Given the description of an element on the screen output the (x, y) to click on. 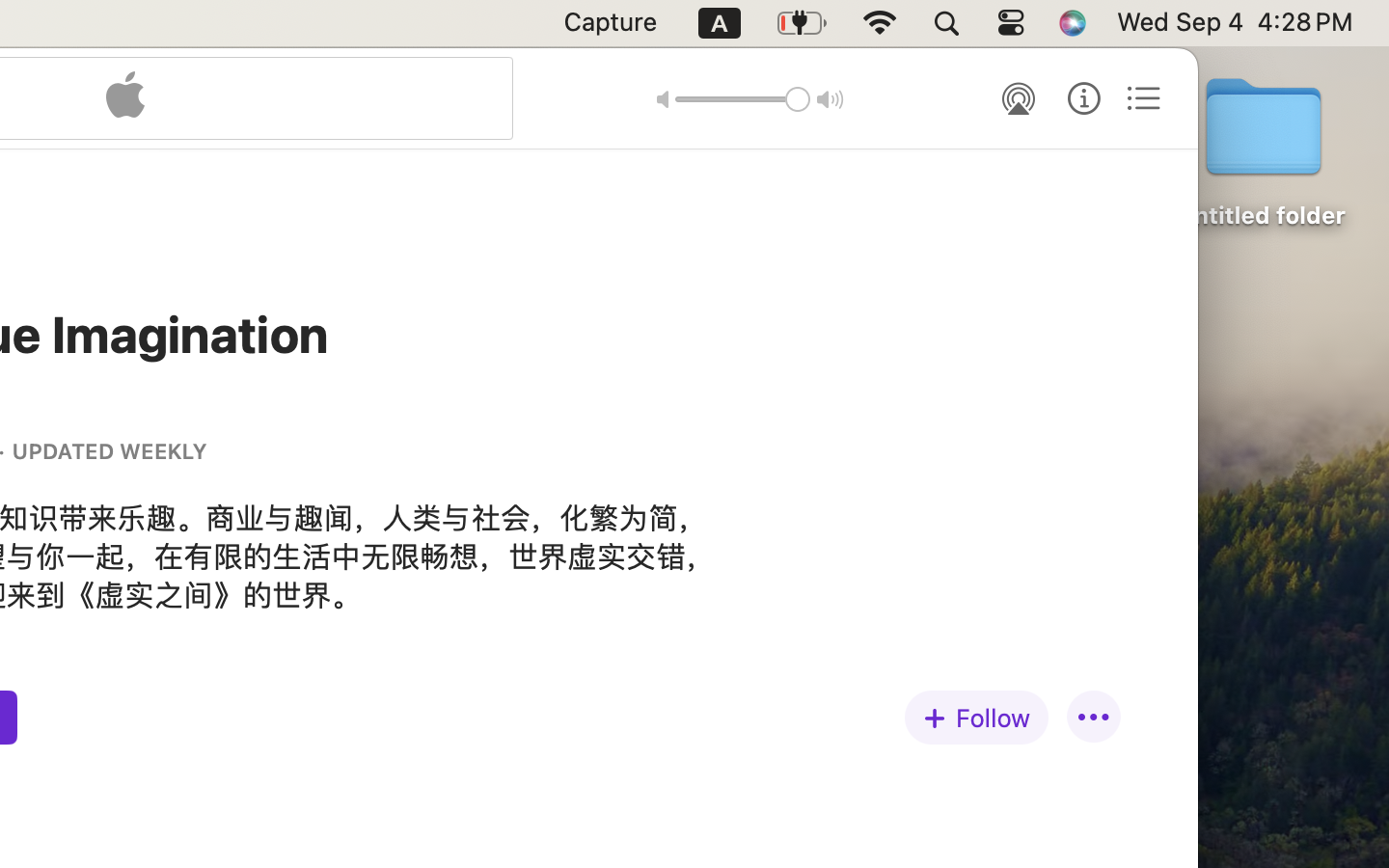
1.0 Element type: AXSlider (742, 98)
